Given the description of an element on the screen output the (x, y) to click on. 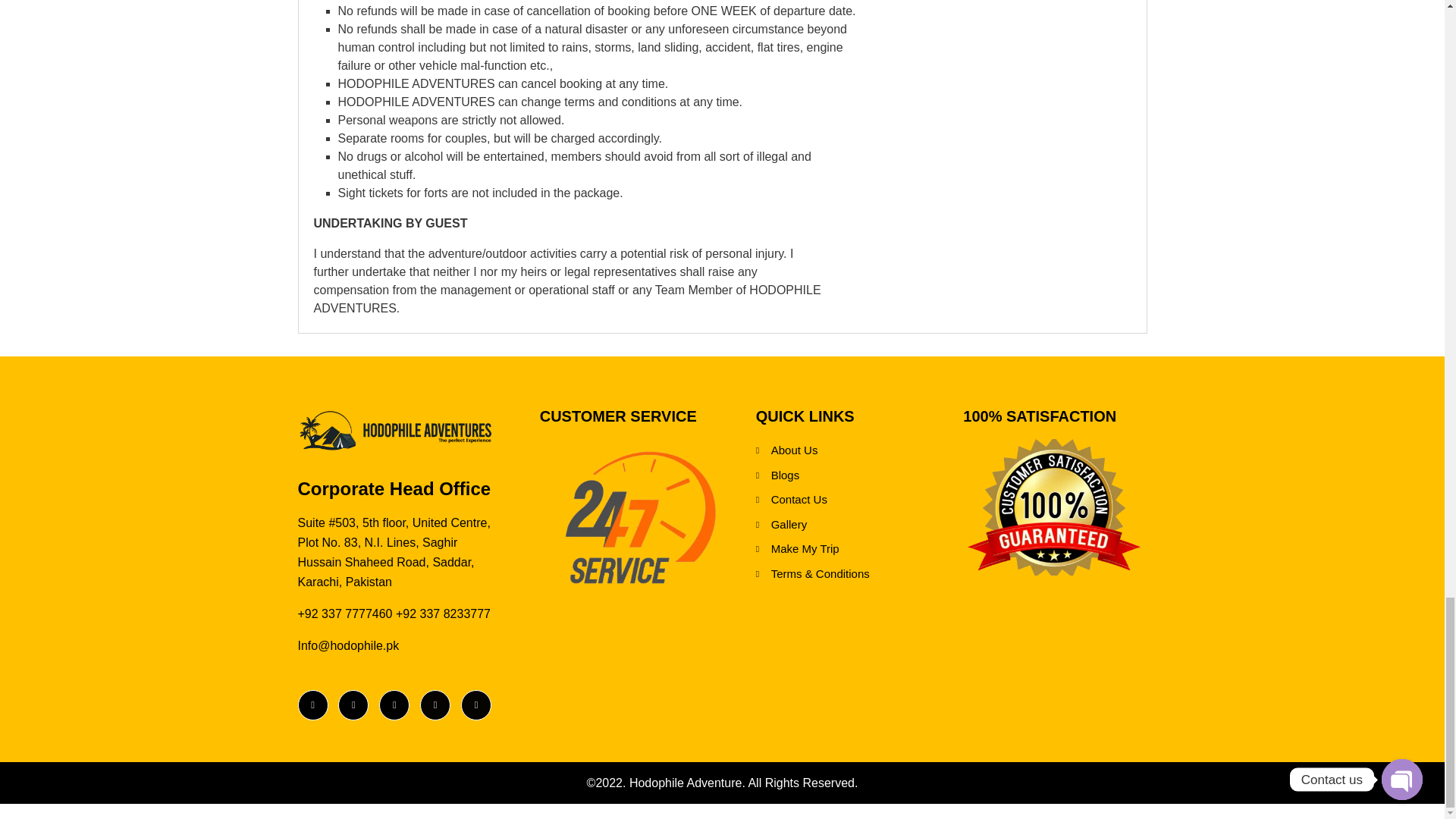
Customer Service hours (640, 517)
Satisfaction Guaranteed (1053, 506)
